Given the description of an element on the screen output the (x, y) to click on. 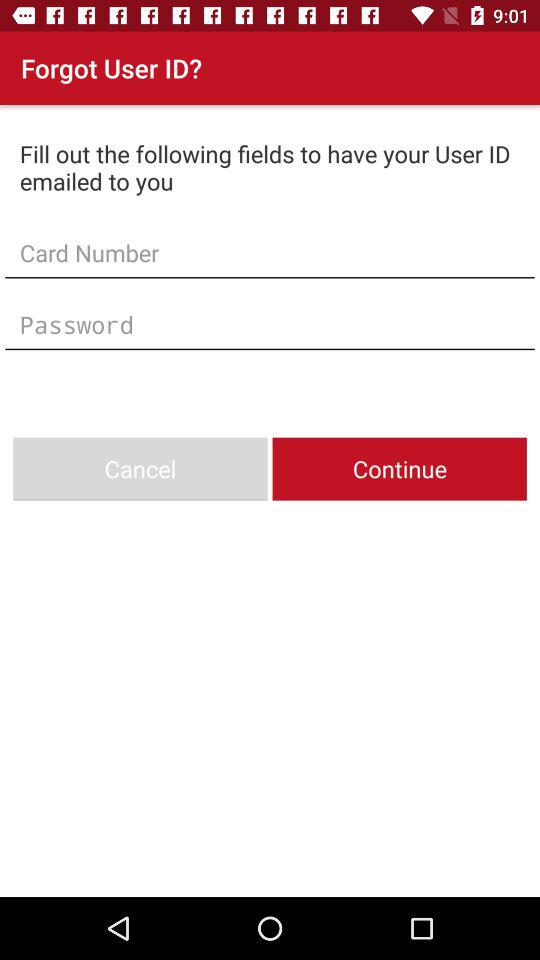
turn on the icon below fill out the item (270, 252)
